Given the description of an element on the screen output the (x, y) to click on. 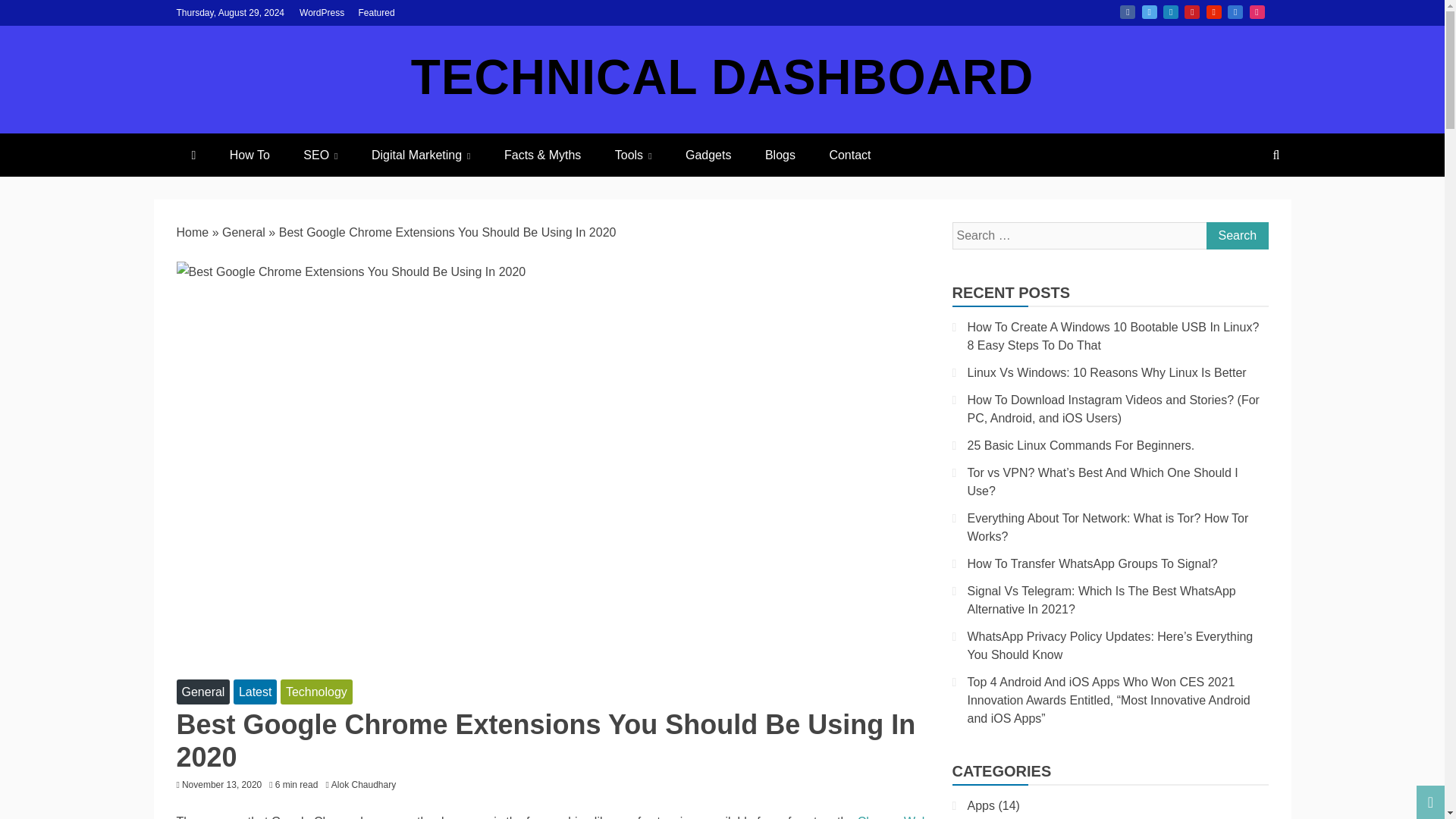
Home (192, 232)
Youtube (1214, 11)
Facebook (1127, 11)
Pinterest (1192, 11)
Twitter (1149, 11)
How To (249, 154)
November 13, 2020 (222, 784)
General (203, 691)
Latest (255, 691)
SEO (320, 154)
